Given the description of an element on the screen output the (x, y) to click on. 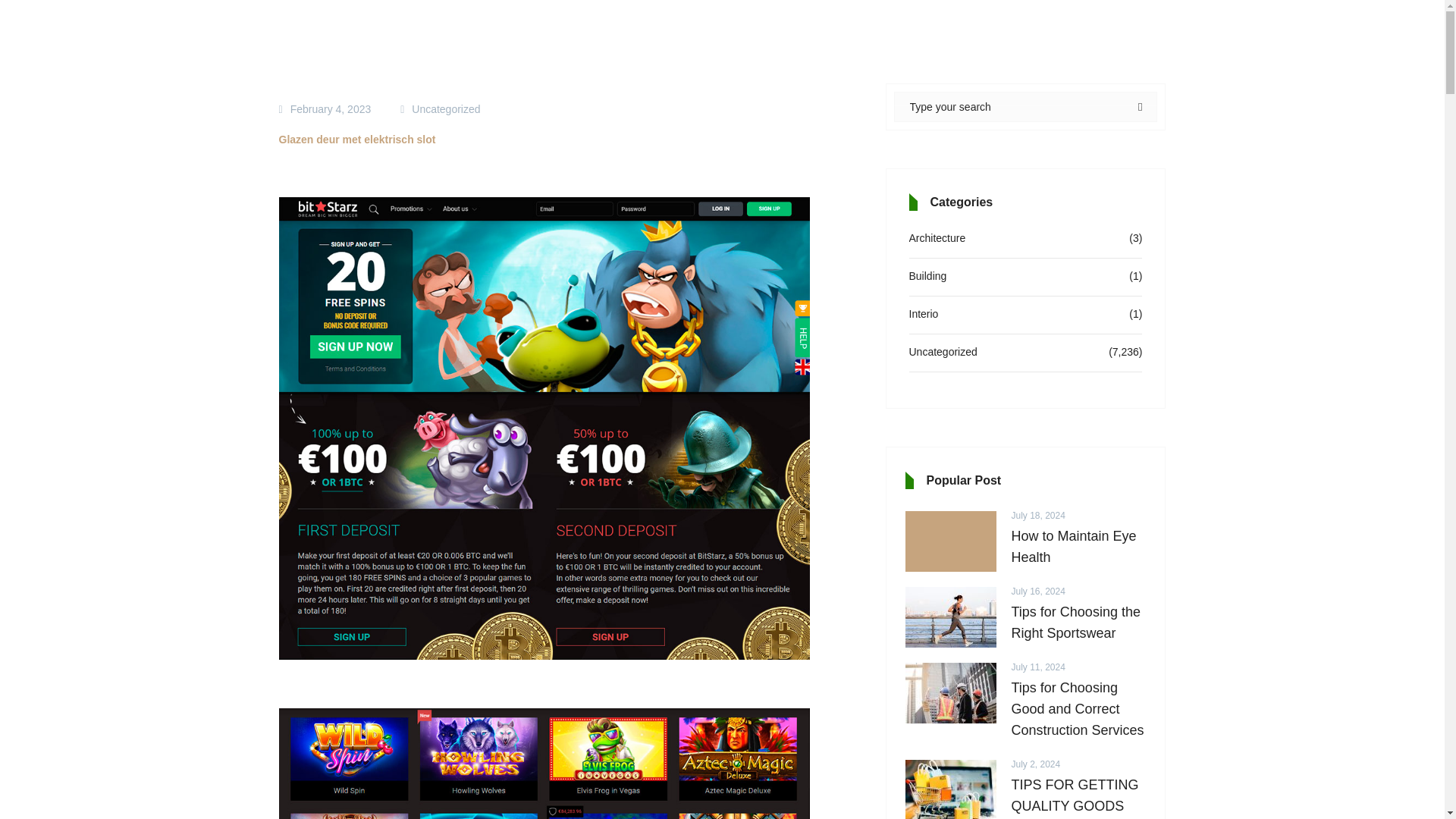
Interio (922, 313)
About Us (908, 64)
CONTACT US (1267, 64)
Glazen deur met elektrisch slot (357, 139)
Contact Us (1267, 64)
Tips for Choosing Good and Correct Construction Services (1082, 709)
Tips for Choosing the Right Sportswear (1082, 622)
How to Maintain Eye Health (1082, 546)
Uncategorized (446, 109)
Glazen deur met elektrisch slot (544, 763)
ABOUT US (908, 64)
Uncategorized (942, 352)
February 4, 2023 (330, 109)
Our Projects (1036, 64)
